Given the description of an element on the screen output the (x, y) to click on. 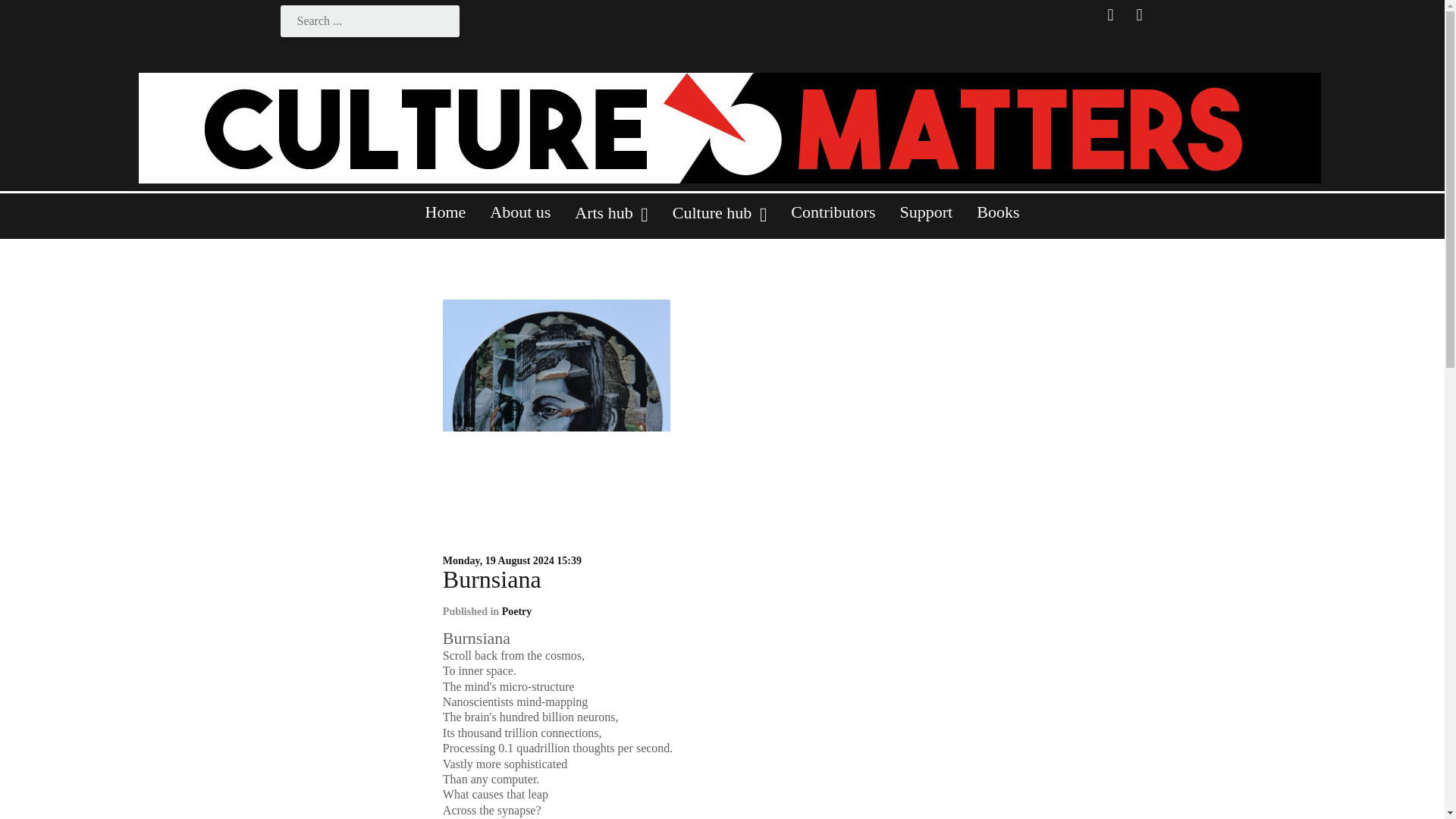
Home (446, 218)
Arts hub (610, 219)
About us (519, 218)
Culture hub (719, 219)
